Given the description of an element on the screen output the (x, y) to click on. 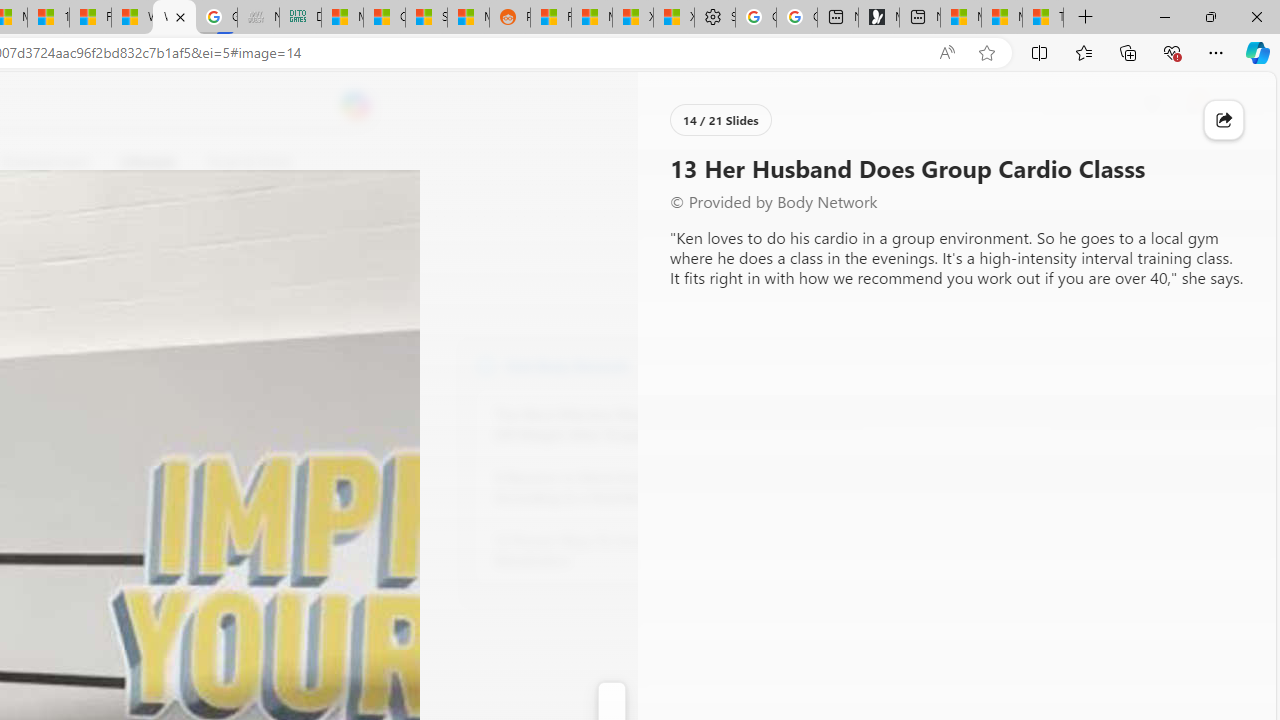
To get missing image descriptions, open the context menu. (671, 162)
Lifestyle (148, 162)
Class: at-item immersive (1224, 120)
Microsoft rewards (1151, 105)
Visit Body Network website (733, 364)
New tab (919, 17)
Personalize (711, 162)
Share this story (1224, 119)
